Given the description of an element on the screen output the (x, y) to click on. 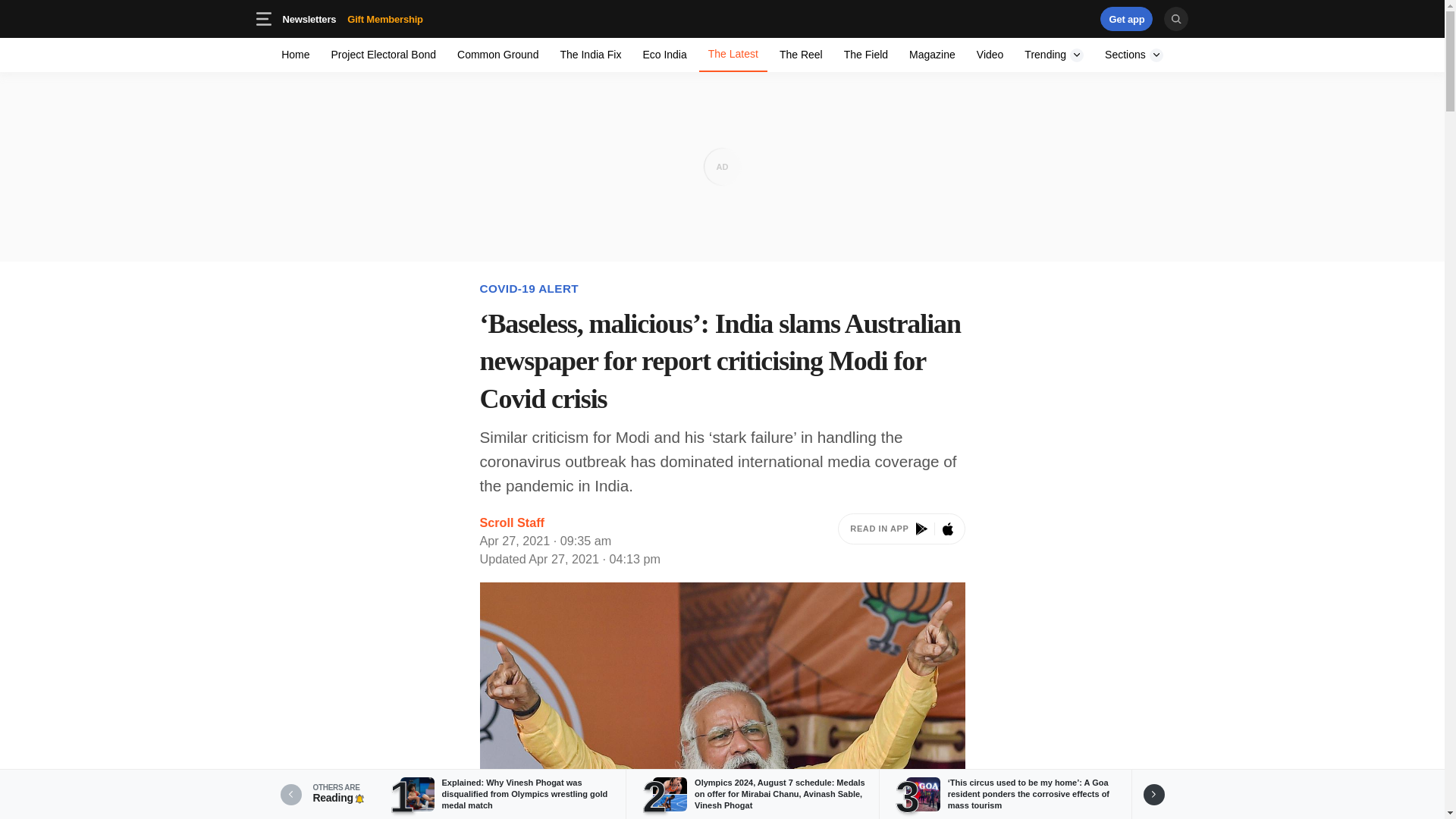
Home (295, 54)
READ IN APP (409, 18)
Project Electoral Bond (900, 540)
Get app (383, 54)
Trending (1126, 18)
Get app (1053, 54)
Get app (721, 18)
Gift Membership (1126, 18)
